Given the description of an element on the screen output the (x, y) to click on. 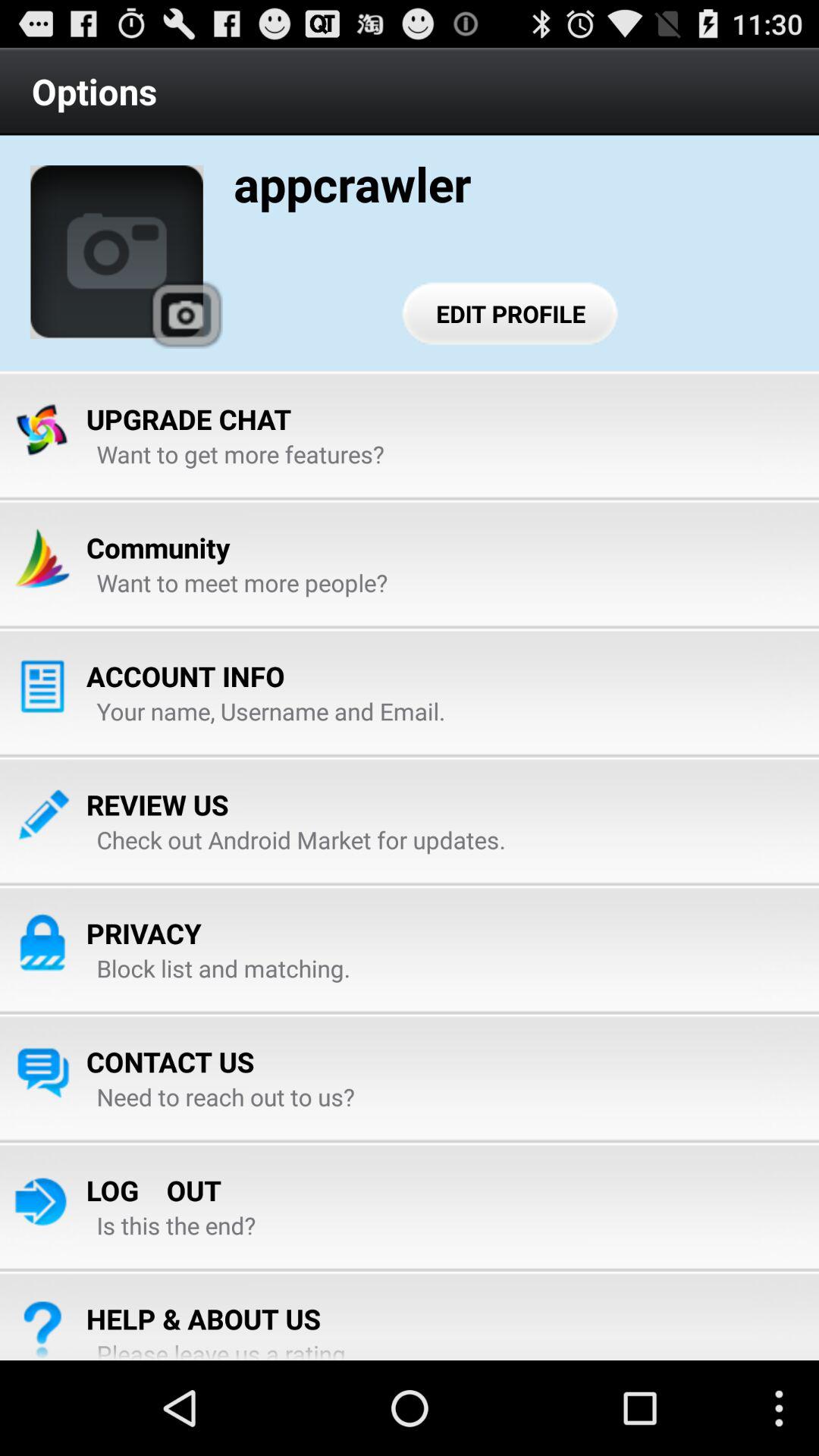
launch app above the help & about us (175, 1225)
